Given the description of an element on the screen output the (x, y) to click on. 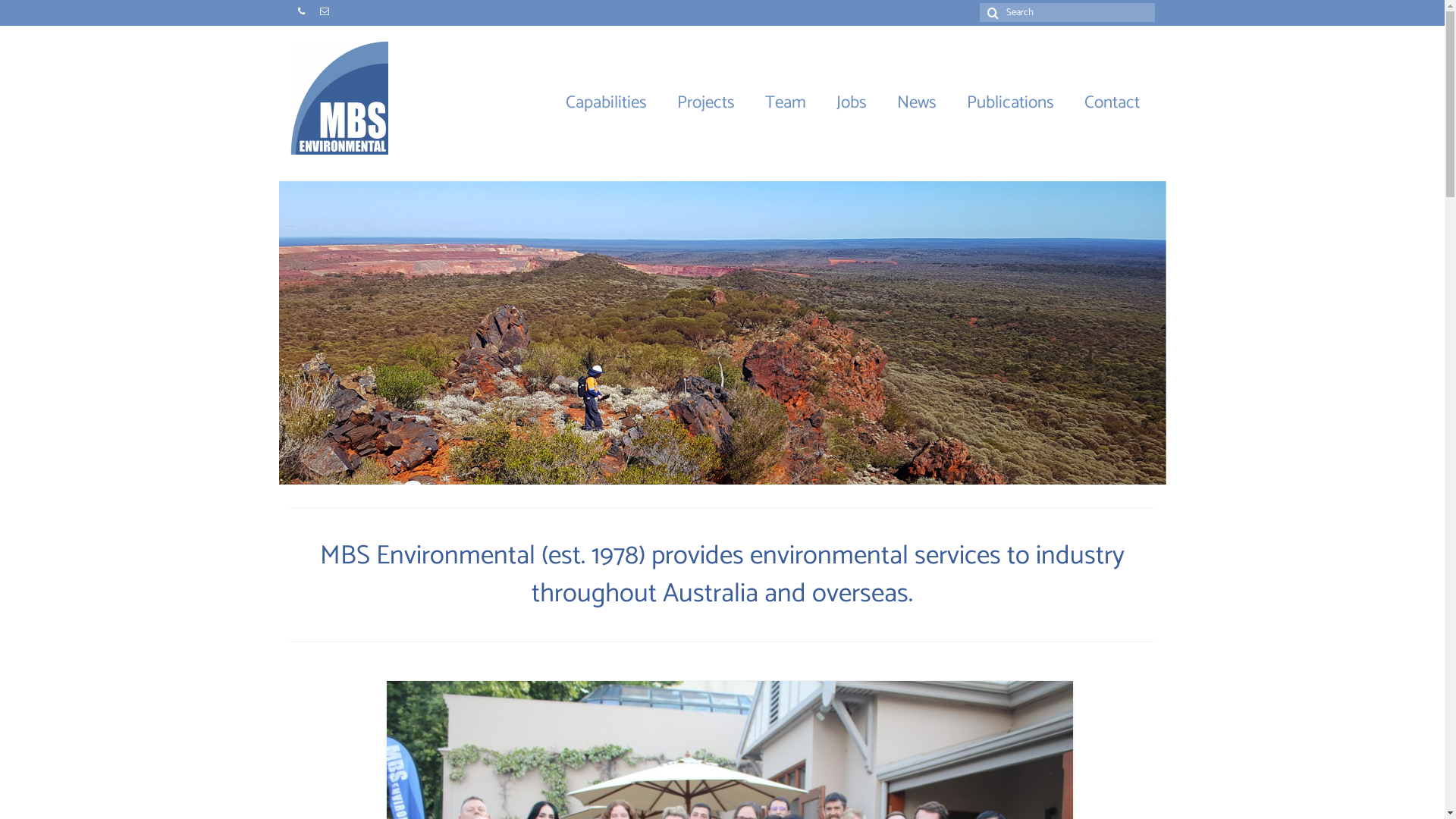
Jobs Element type: text (850, 102)
Publications Element type: text (1009, 102)
News Element type: text (915, 102)
Capabilities Element type: text (606, 102)
Contact Element type: text (1111, 102)
Projects Element type: text (705, 102)
Team Element type: text (784, 102)
